Given the description of an element on the screen output the (x, y) to click on. 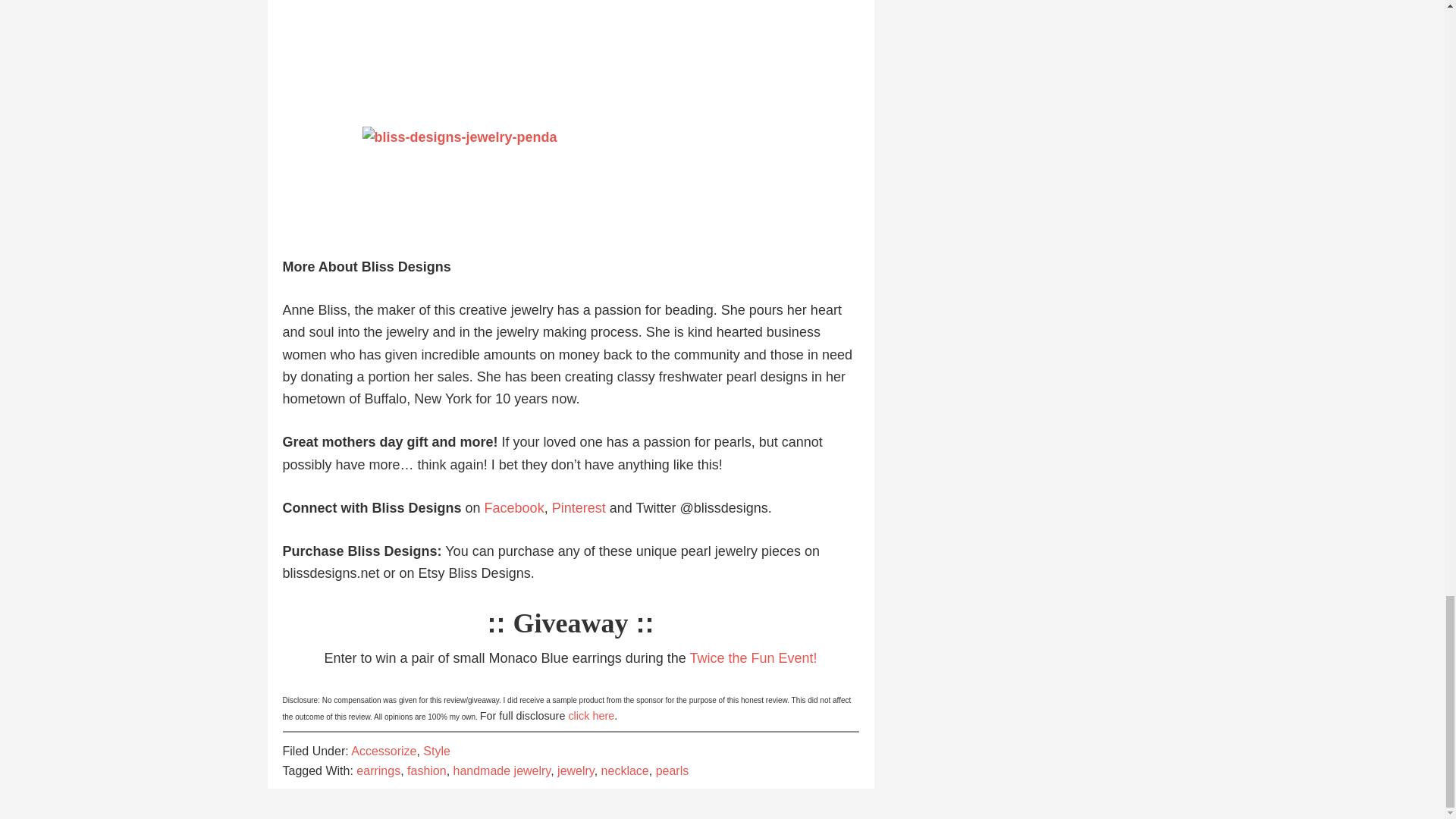
click here (590, 715)
earrings (378, 770)
jewelry by anne bliss designs (570, 52)
jewelry (575, 770)
fashion (426, 770)
Style (436, 750)
Accessorize (383, 750)
Pinterest (578, 507)
Facebook (514, 507)
Twice the Fun Event! (752, 657)
